Given the description of an element on the screen output the (x, y) to click on. 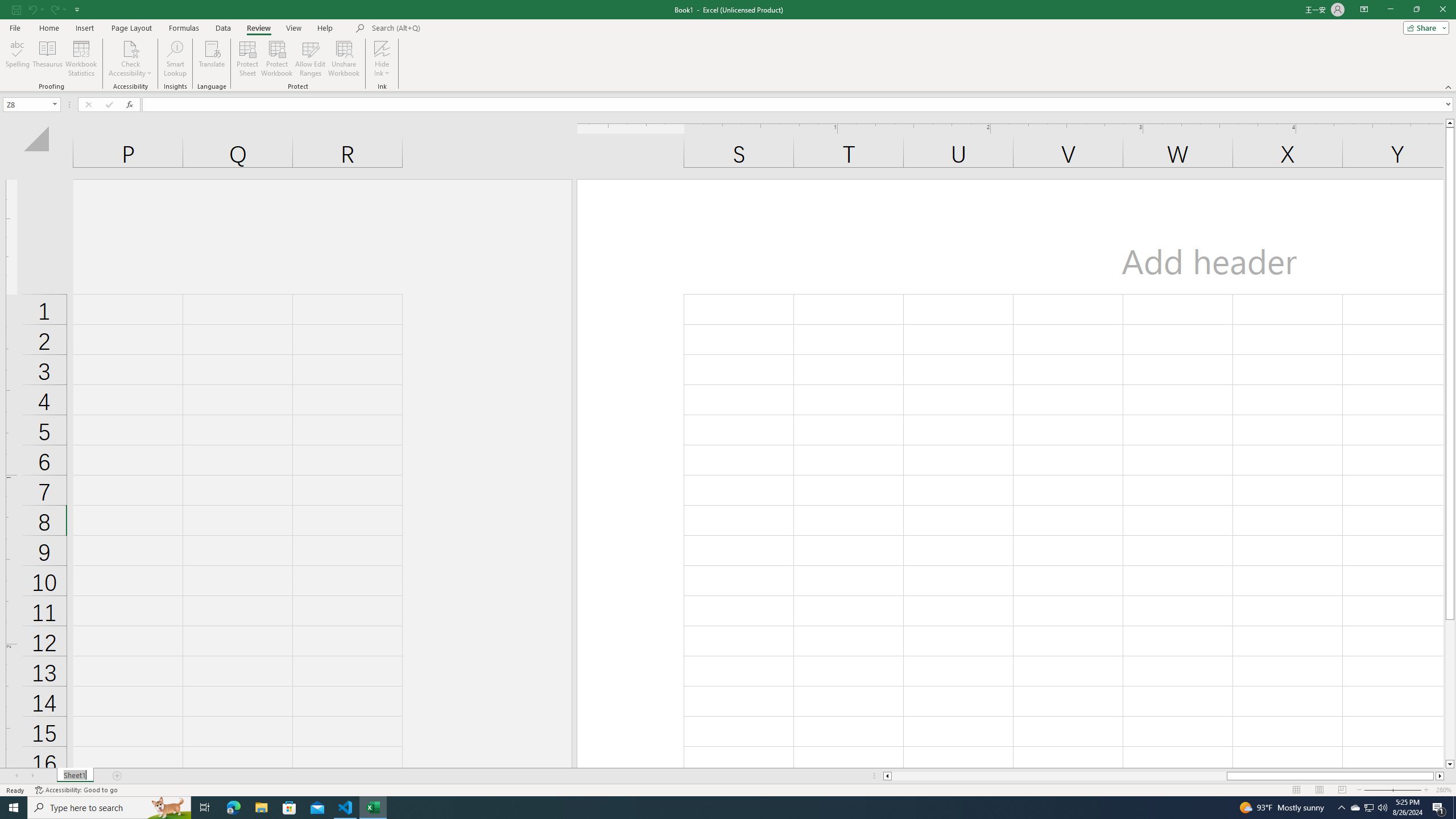
Restore Down (1416, 9)
Close (1442, 9)
Accessibility Checker Accessibility: Good to go (76, 790)
Share (1423, 27)
Translate (211, 58)
Microsoft search (450, 28)
Check Accessibility (129, 48)
Insert (83, 28)
Column right (1440, 775)
Check Accessibility (129, 58)
Formula Bar (798, 104)
Ribbon Display Options (1364, 9)
